Given the description of an element on the screen output the (x, y) to click on. 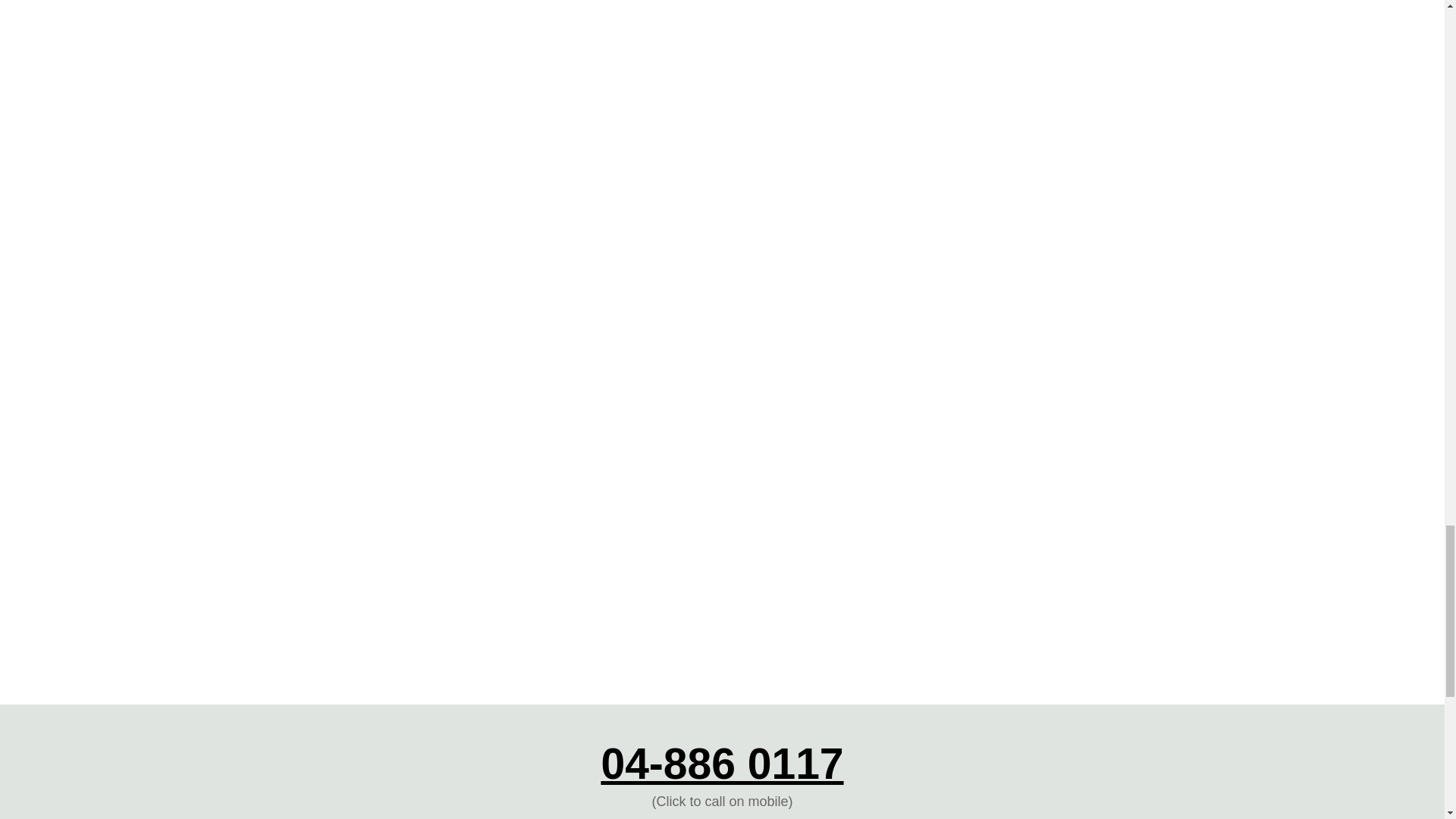
04-886 0117 (721, 763)
